Given the description of an element on the screen output the (x, y) to click on. 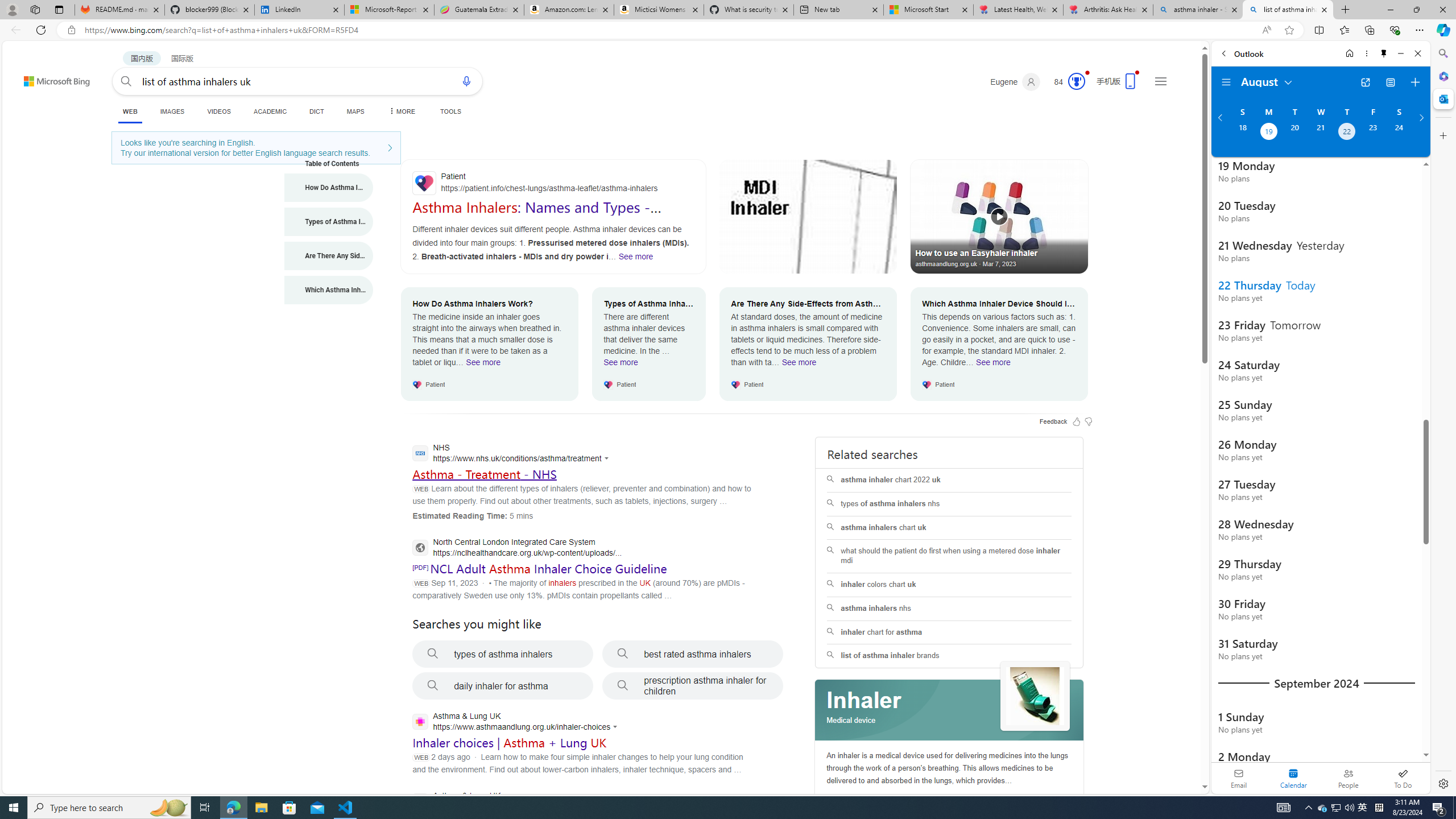
asthma inhalers nhs (949, 608)
list of asthma inhaler brands (949, 656)
Inhaler choices | Asthma + Lung UK (509, 742)
Open in new tab (1365, 82)
types of asthma inhalers nhs (949, 503)
Arthritis: Ask Health Professionals (1107, 9)
AutomationID: mfa_root (1161, 752)
